Given the description of an element on the screen output the (x, y) to click on. 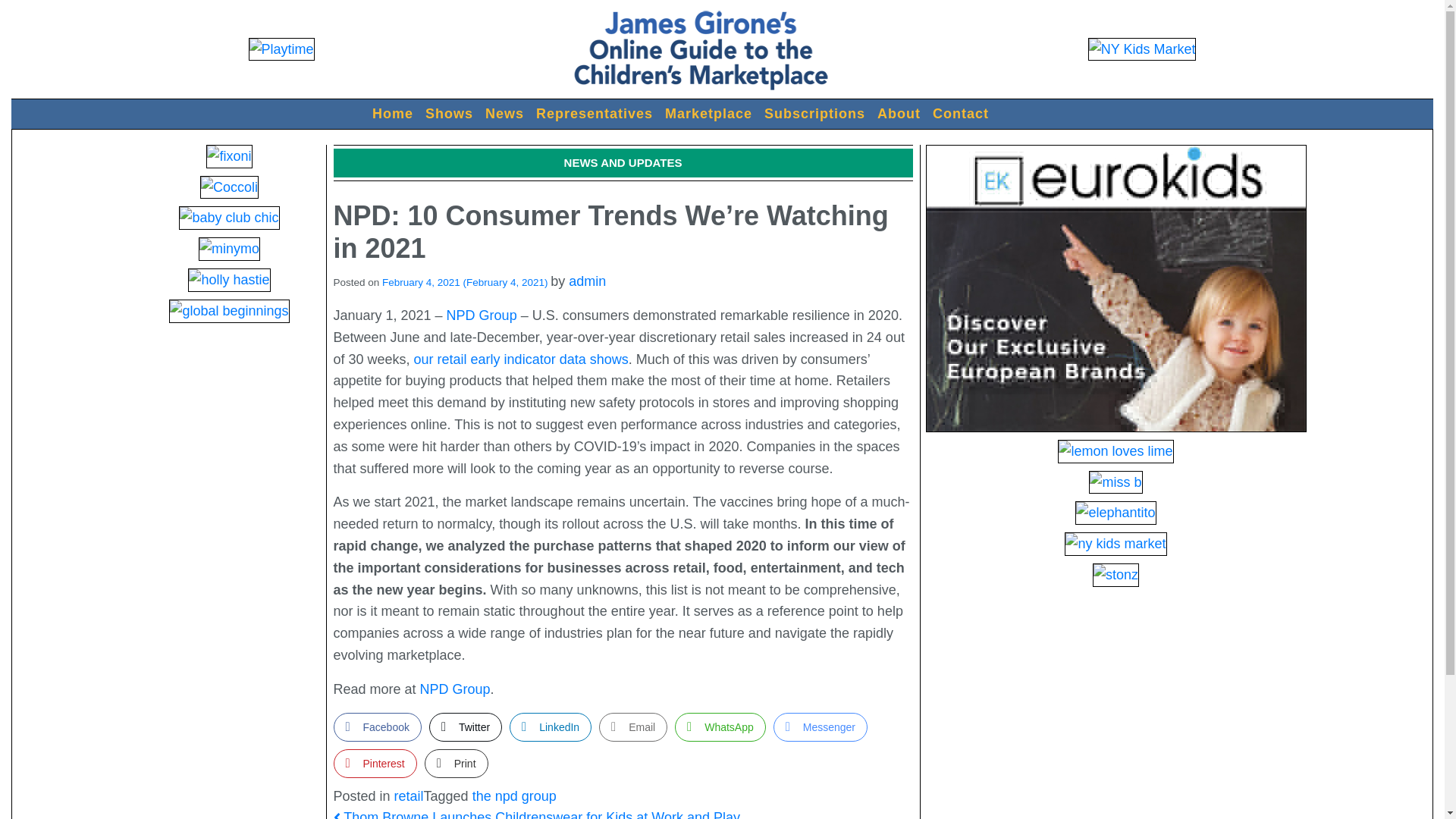
Home (392, 113)
News (504, 113)
LinkedIn (550, 727)
News (504, 113)
Marketplace (708, 113)
About (898, 113)
Representatives (594, 113)
retail (408, 795)
Subscriptions (814, 113)
Shows (449, 113)
our retail early indicator data shows (520, 359)
Messenger (820, 727)
Email (632, 727)
Marketplace (708, 113)
Shows (449, 113)
